Given the description of an element on the screen output the (x, y) to click on. 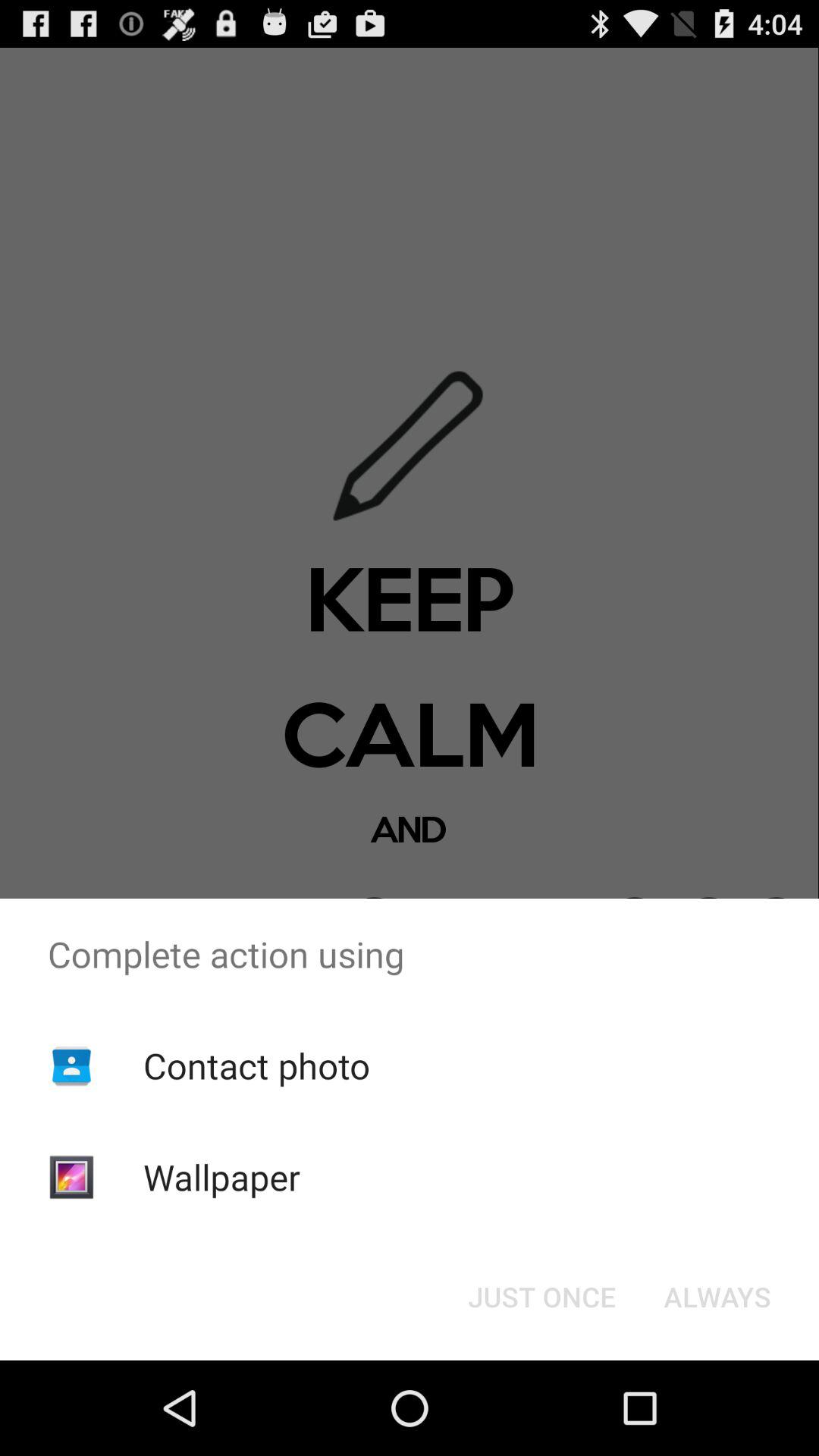
turn on the app below the contact photo icon (221, 1176)
